Given the description of an element on the screen output the (x, y) to click on. 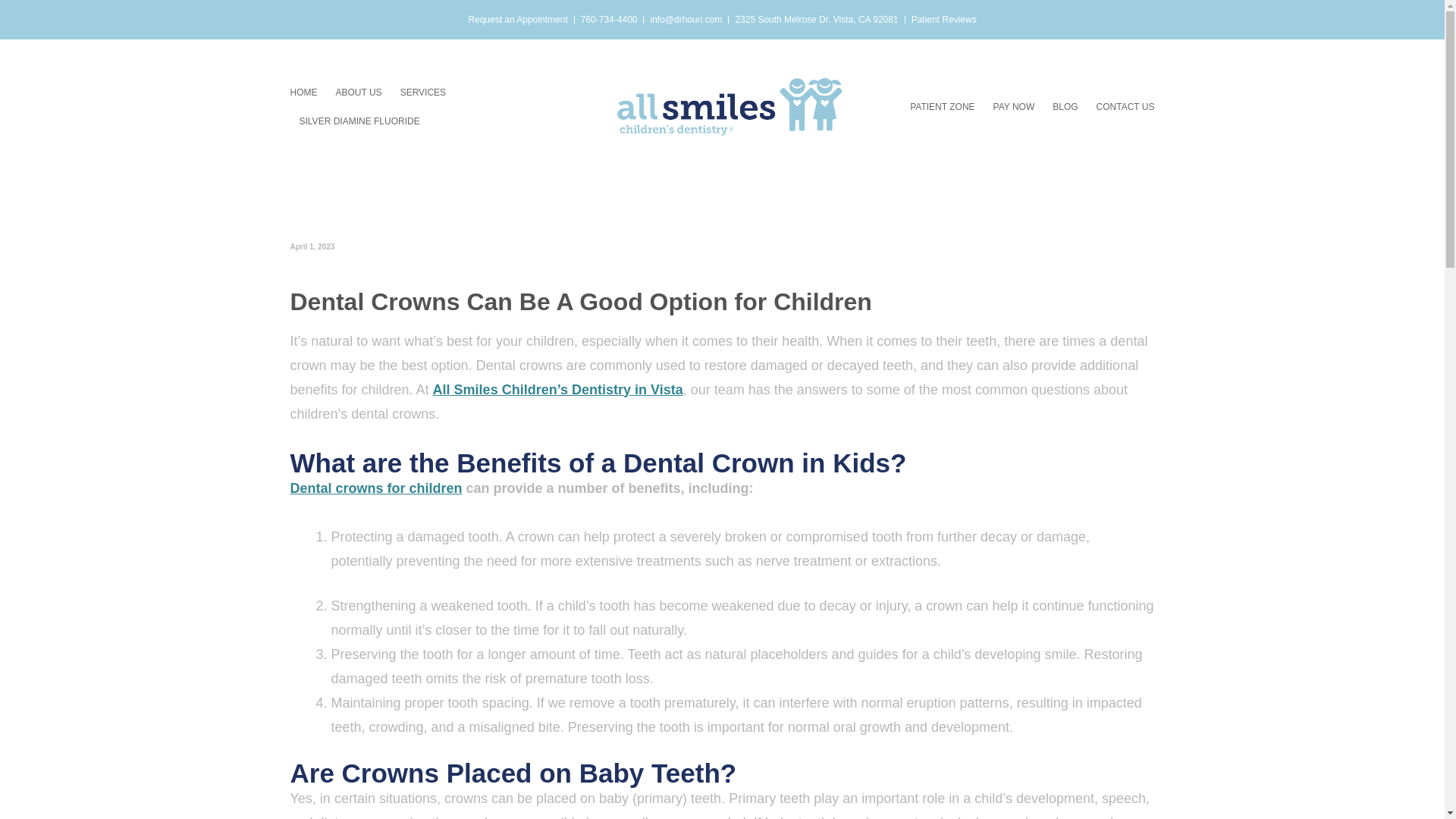
ABOUT US (357, 92)
HOME (303, 92)
PAY NOW (1013, 106)
2325 South Melrose Dr. Vista, CA 92081 (816, 19)
PATIENT ZONE (942, 106)
CONTACT US (1125, 106)
Request an Appointment (517, 19)
Patient Reviews (943, 19)
SERVICES (422, 92)
760-734-4400 (608, 19)
SILVER DIAMINE FLUORIDE (358, 121)
